Given the description of an element on the screen output the (x, y) to click on. 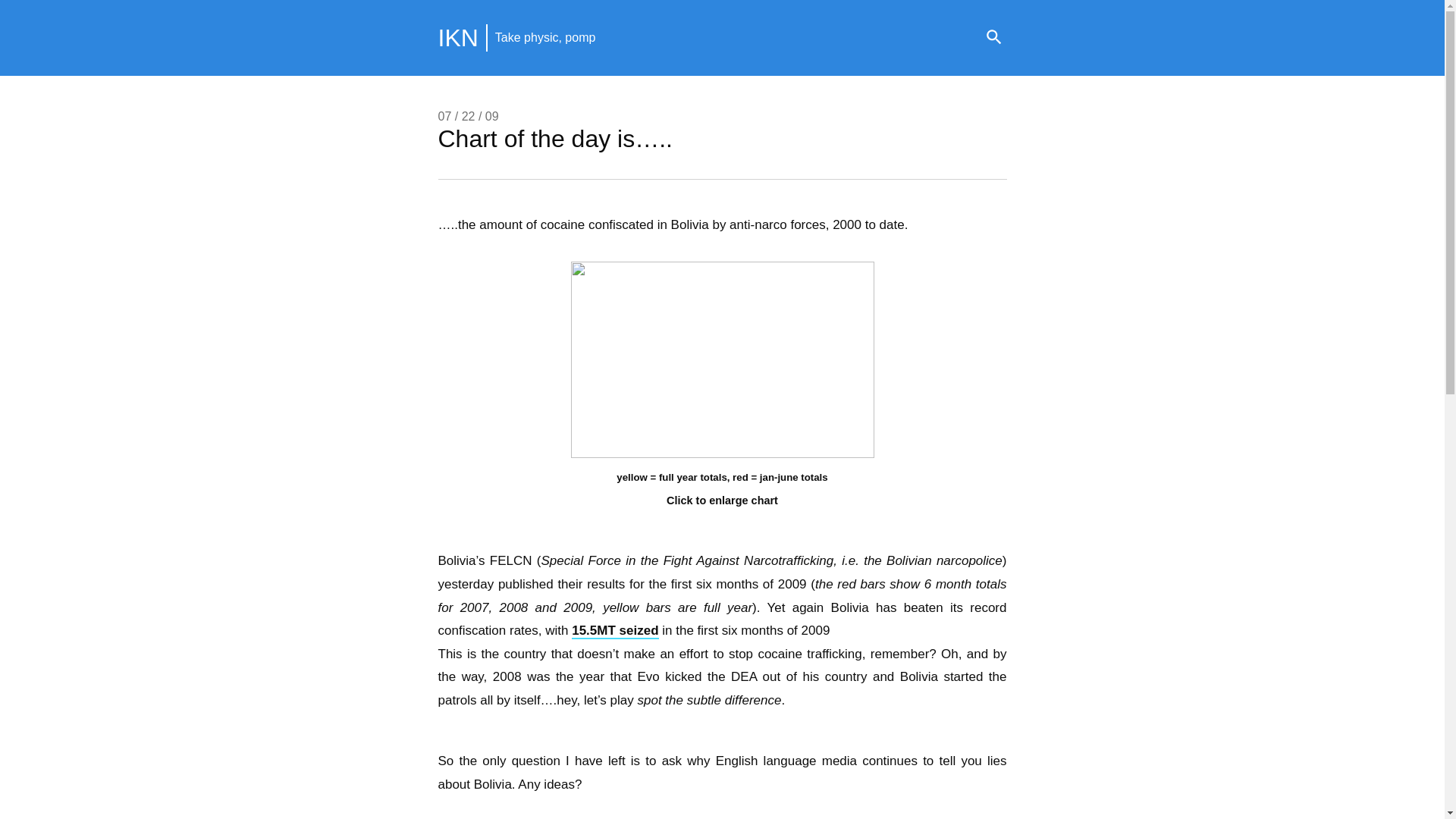
15.5MT seized (615, 631)
IKN (458, 37)
Search (993, 37)
